Given the description of an element on the screen output the (x, y) to click on. 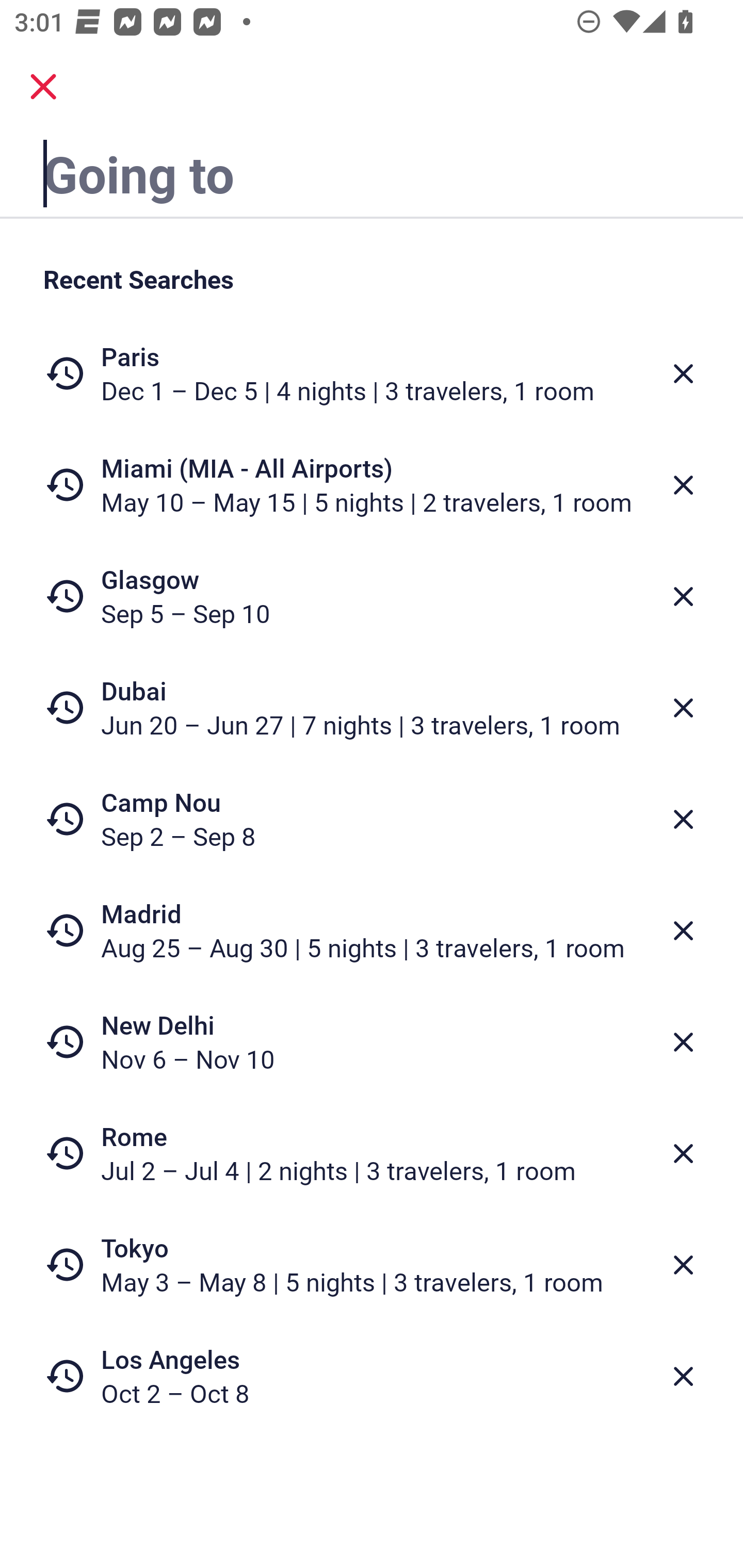
close. (43, 86)
Delete from recent searches (683, 373)
Delete from recent searches (683, 485)
Glasgow Sep 5 – Sep 10 (371, 596)
Delete from recent searches (683, 596)
Delete from recent searches (683, 707)
Camp Nou Sep 2 – Sep 8 (371, 818)
Delete from recent searches (683, 819)
Delete from recent searches (683, 930)
New Delhi Nov 6 – Nov 10 (371, 1041)
Delete from recent searches (683, 1041)
Delete from recent searches (683, 1153)
Delete from recent searches (683, 1265)
Los Angeles Oct 2 – Oct 8 (371, 1375)
Delete from recent searches (683, 1376)
